Given the description of an element on the screen output the (x, y) to click on. 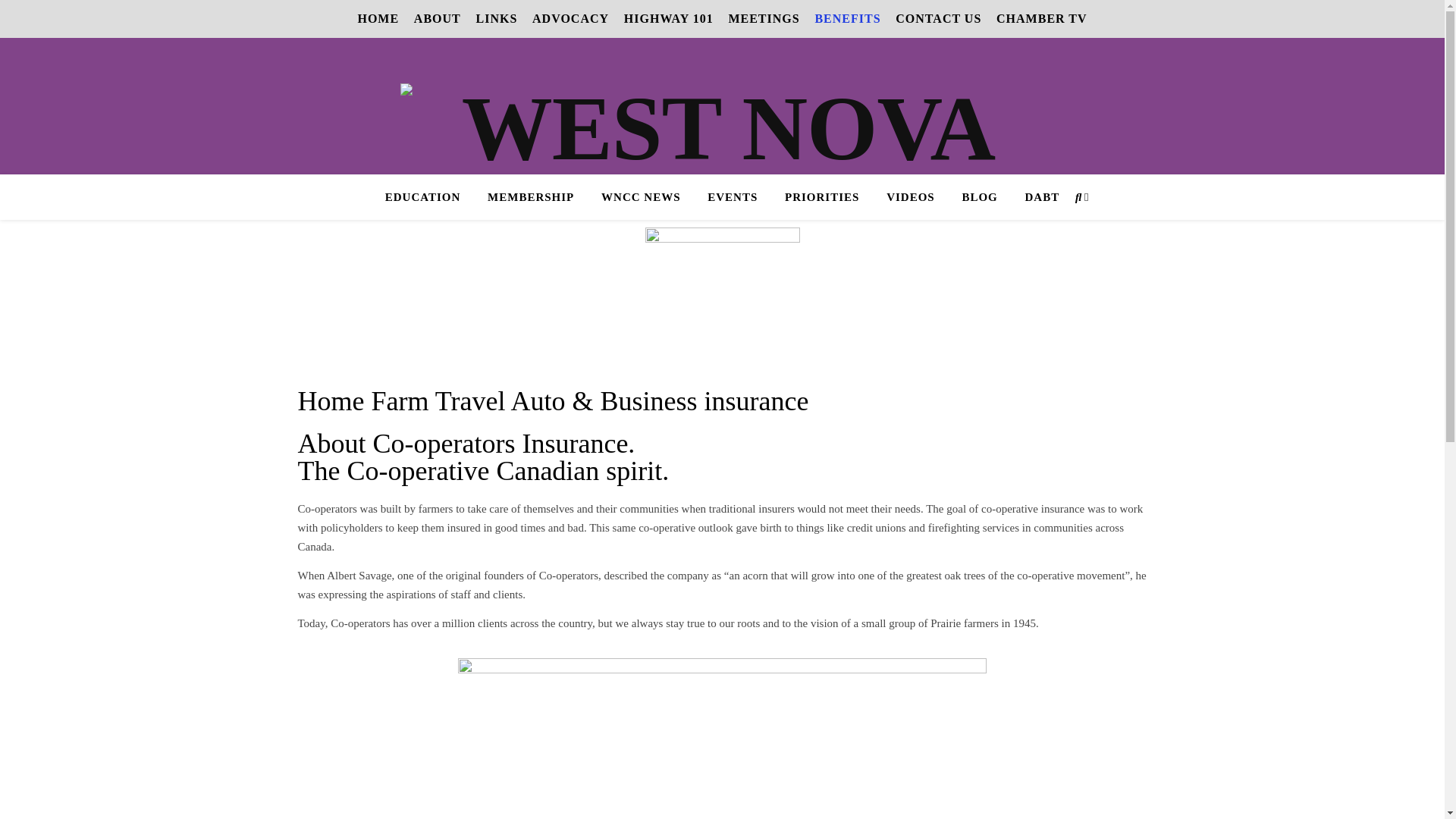
BENEFITS (852, 18)
ABOUT (443, 18)
West Nova Chamber of Commerce (722, 169)
HIGHWAY 101 (674, 18)
LINKS (502, 18)
ADVOCACY (576, 18)
CONTACT US (943, 18)
MEETINGS (769, 18)
CHAMBER TV (1041, 18)
HOME (383, 18)
